Given the description of an element on the screen output the (x, y) to click on. 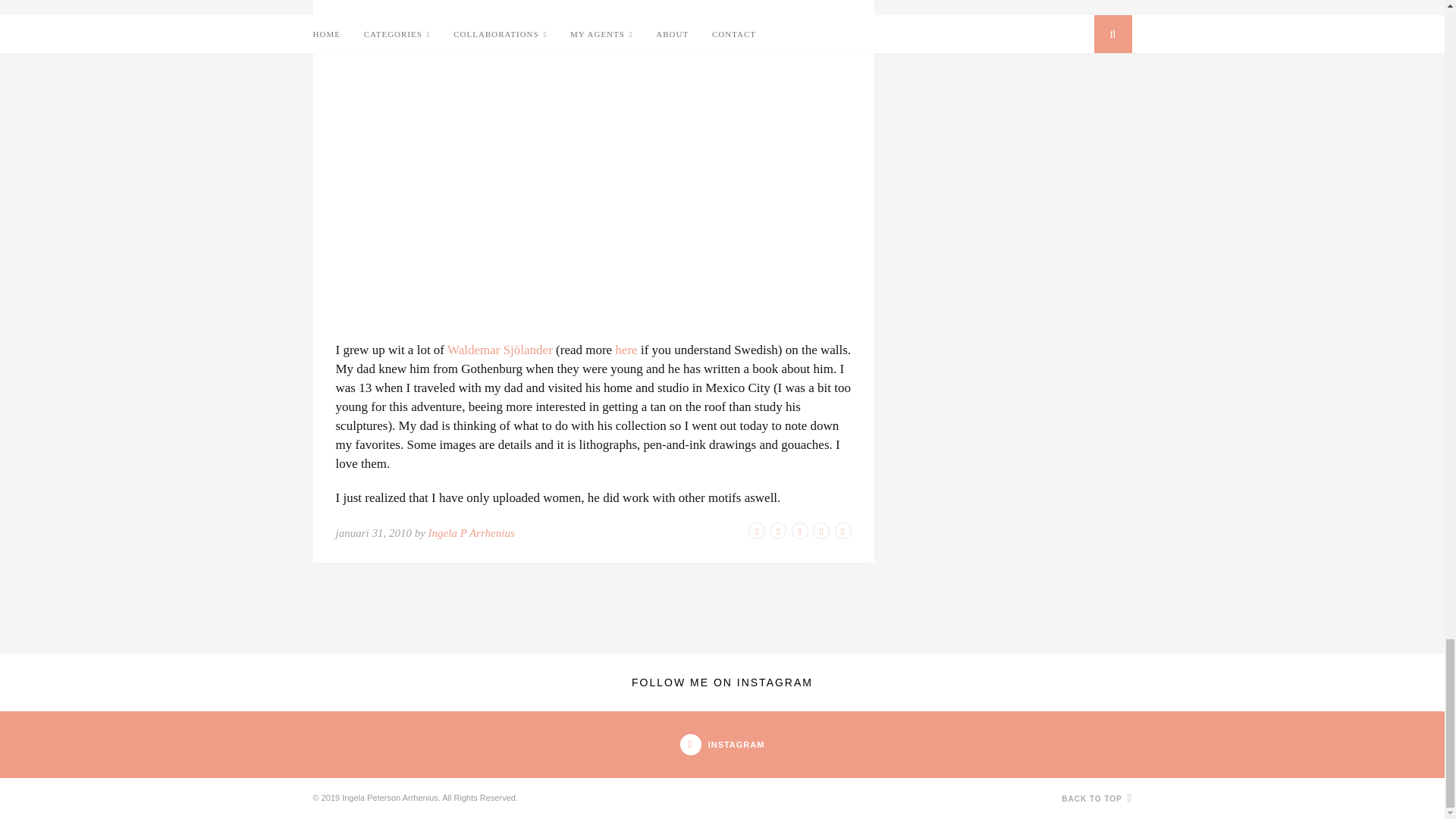
w9 (474, 155)
